Given the description of an element on the screen output the (x, y) to click on. 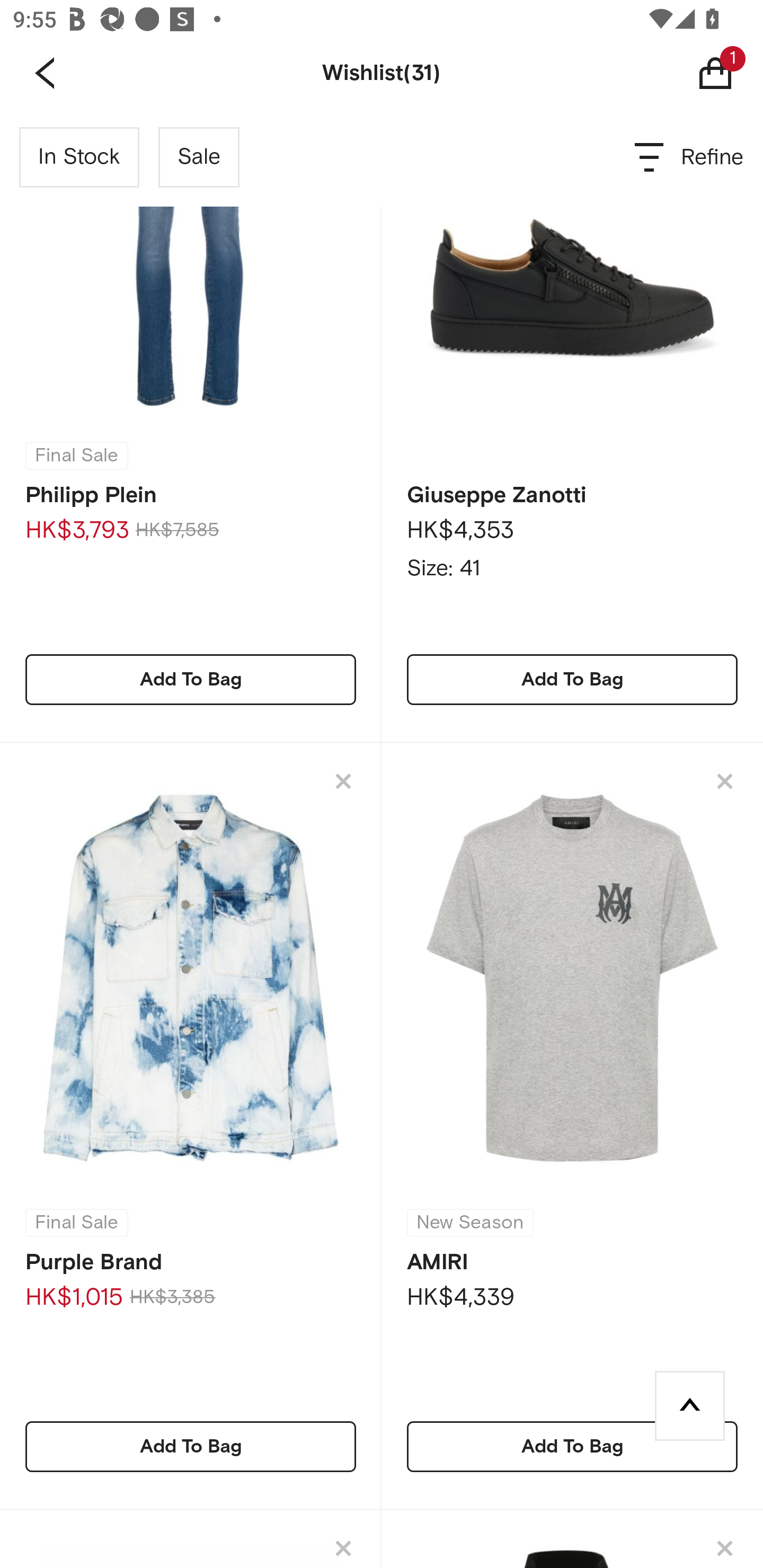
1 (729, 72)
Giuseppe Zanotti HK$4,353 Size: 41 Add To Bag (572, 425)
In Stock (79, 157)
Sale (198, 157)
Refine (690, 157)
Add To Bag (190, 679)
Add To Bag (571, 679)
New Season AMIRI HK$4,339 Add To Bag (572, 1126)
Add To Bag (190, 1446)
Add To Bag (571, 1446)
